Given the description of an element on the screen output the (x, y) to click on. 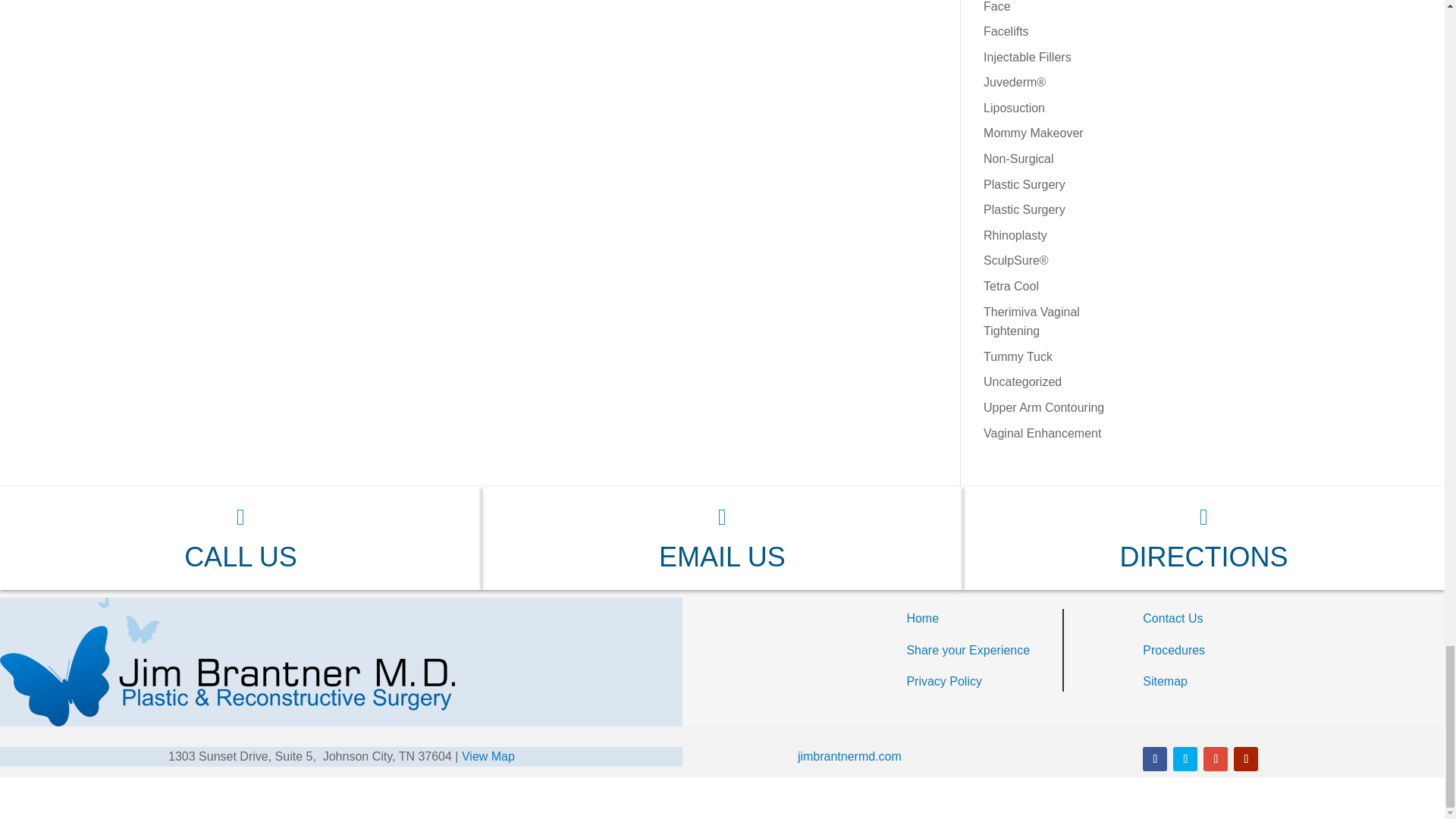
Follow on Youtube (1245, 758)
Follow on Facebook (1154, 758)
Follow on Twitter (1184, 758)
